Given the description of an element on the screen output the (x, y) to click on. 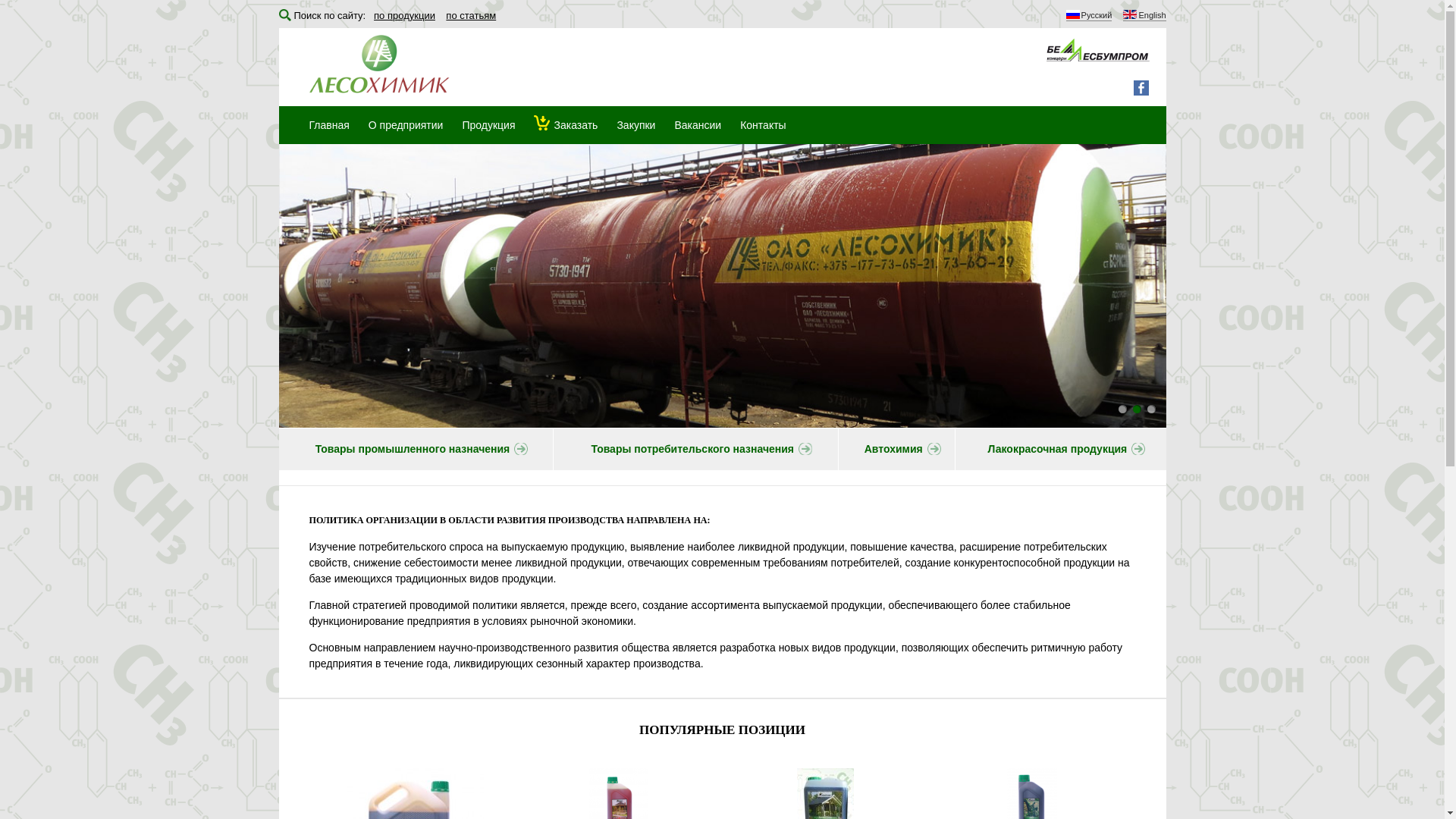
3 Element type: text (1150, 408)
1 Element type: text (1121, 408)
English Element type: text (1144, 16)
2 Element type: text (1136, 408)
